Given the description of an element on the screen output the (x, y) to click on. 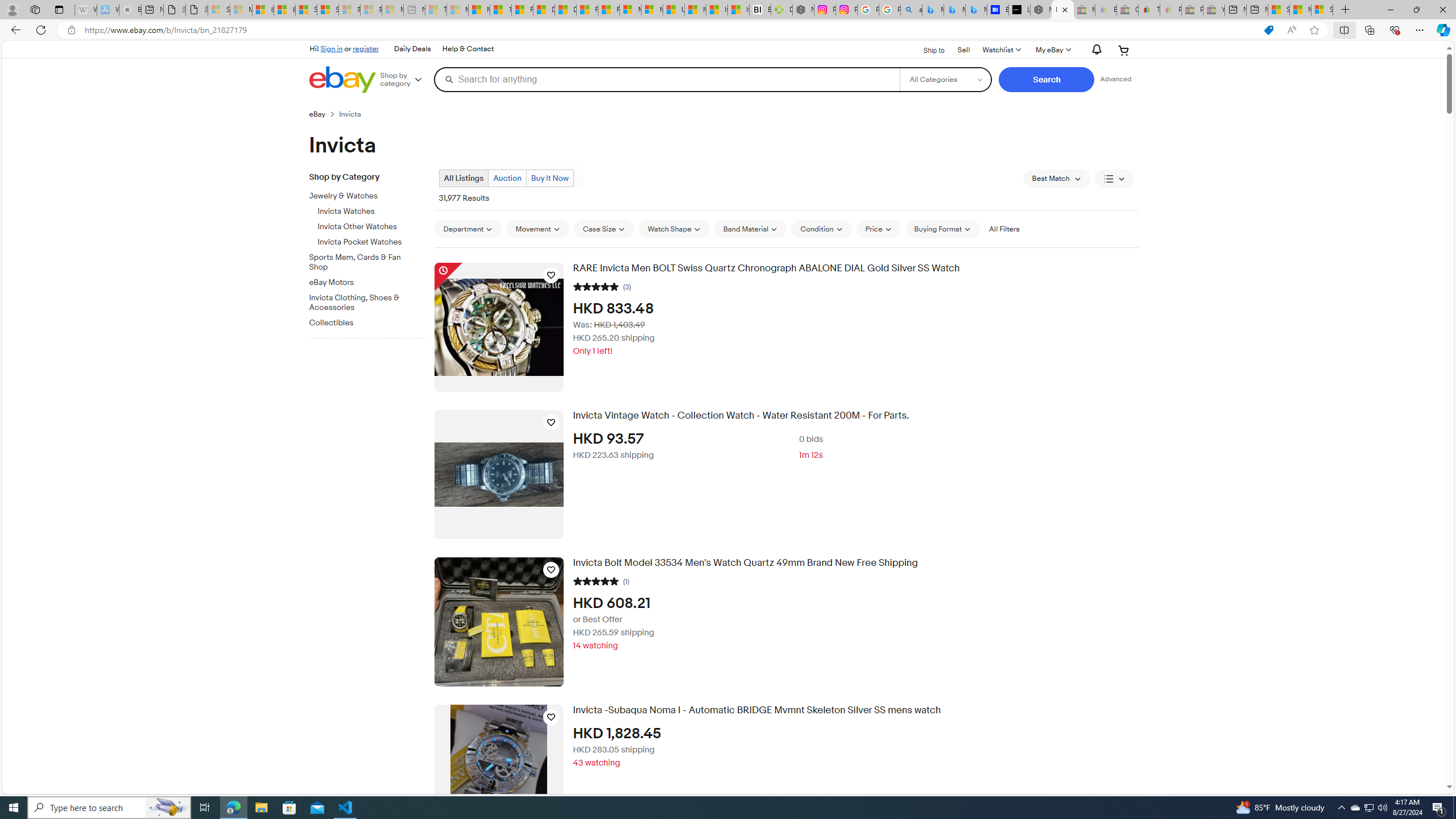
eBay Home (341, 79)
Collectibles (362, 322)
register (366, 48)
Condition (820, 229)
Buy iPad - Apple - Sleeping (130, 9)
Threats and offensive language policy | eBay (1149, 9)
Invicta Watches (371, 211)
Invicta Pocket Watches (371, 240)
Advanced Search (1115, 78)
